Given the description of an element on the screen output the (x, y) to click on. 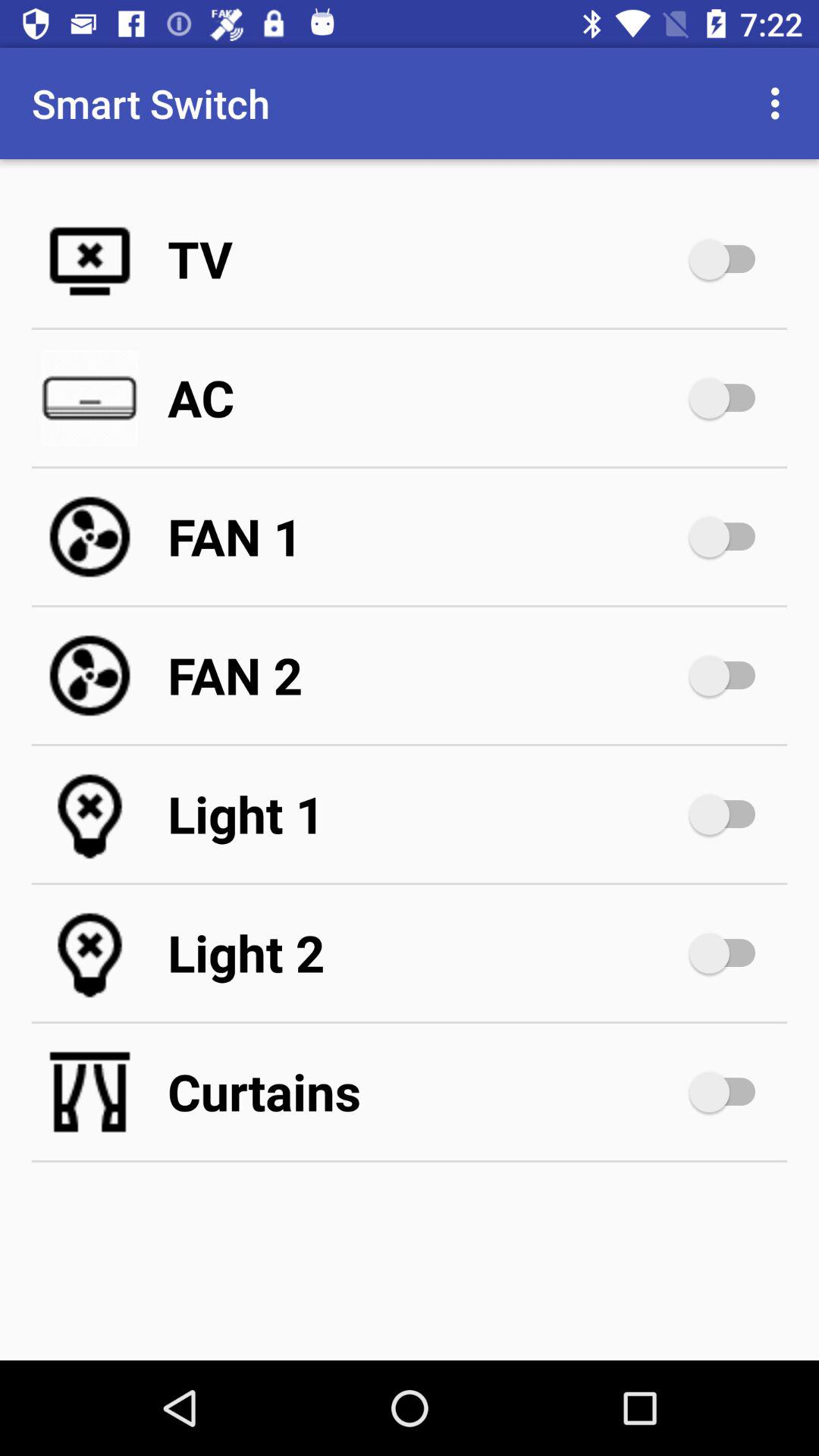
turn on fan 1 (729, 536)
